Given the description of an element on the screen output the (x, y) to click on. 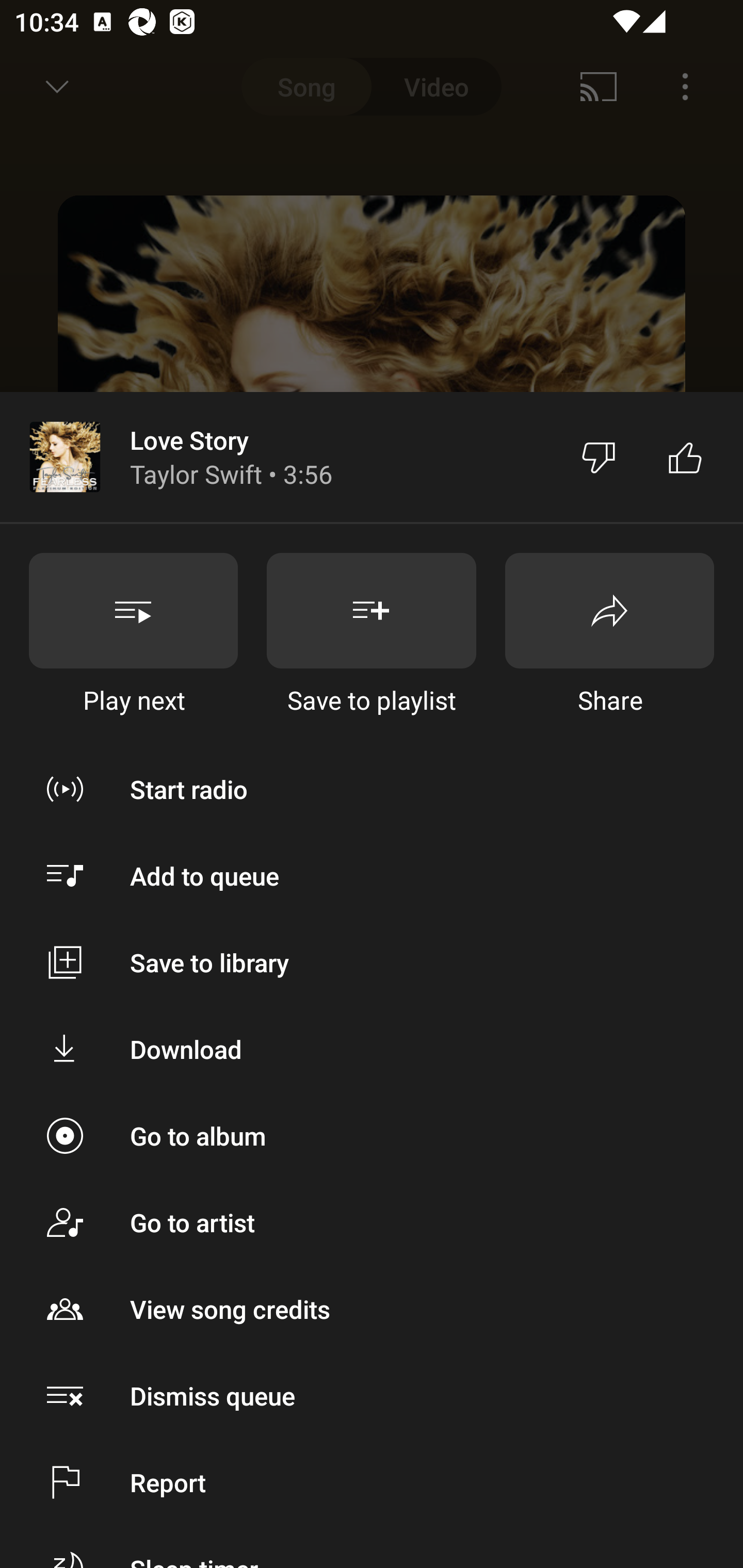
Dislike (598, 456)
Like (684, 456)
Start radio (371, 789)
Add to queue (371, 875)
Save to library (371, 961)
Download (371, 1048)
Go to album (371, 1135)
Go to artist (371, 1222)
View song credits (371, 1308)
Dismiss queue (371, 1395)
Report (371, 1482)
